Given the description of an element on the screen output the (x, y) to click on. 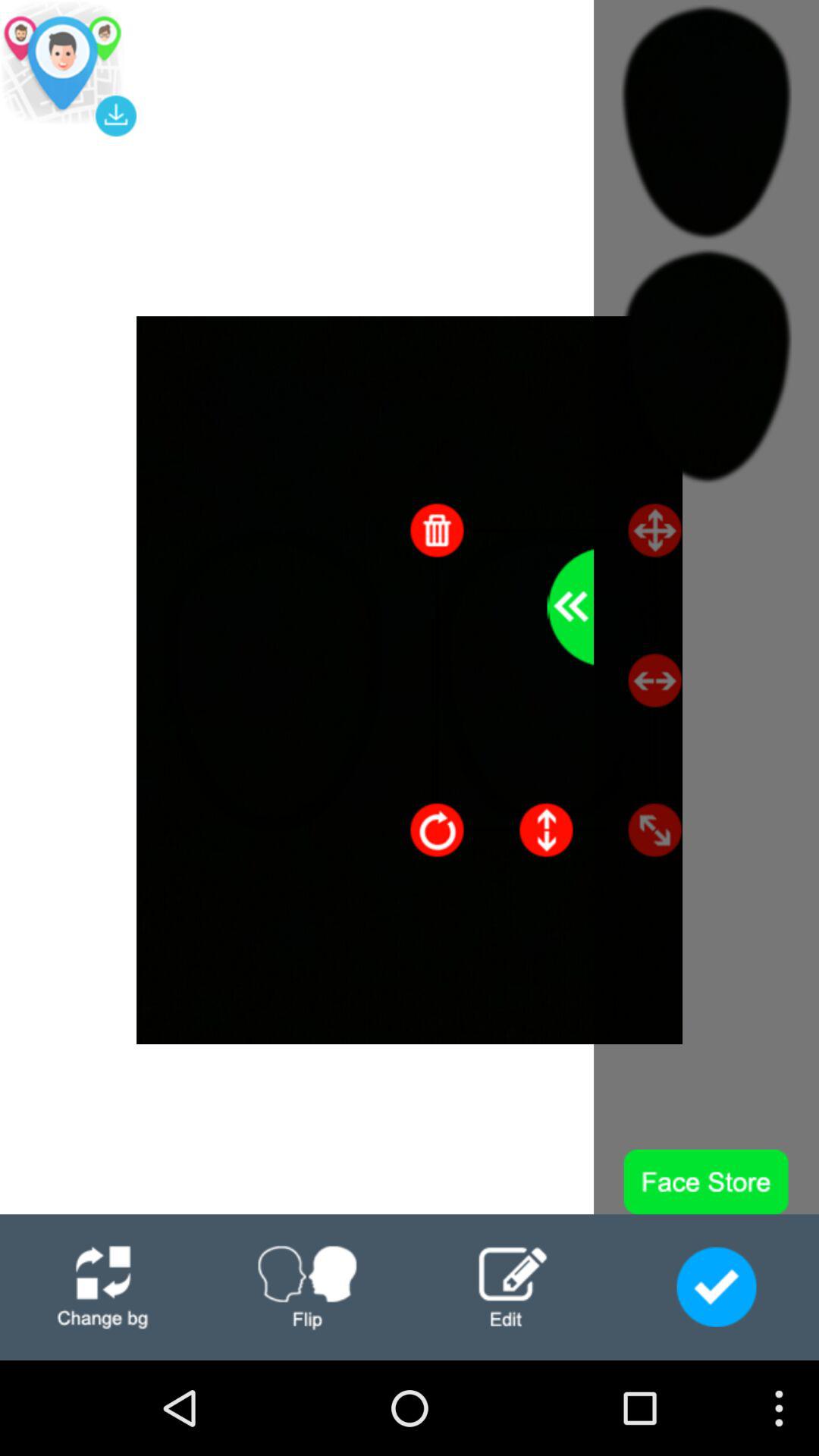
go back (570, 606)
